Given the description of an element on the screen output the (x, y) to click on. 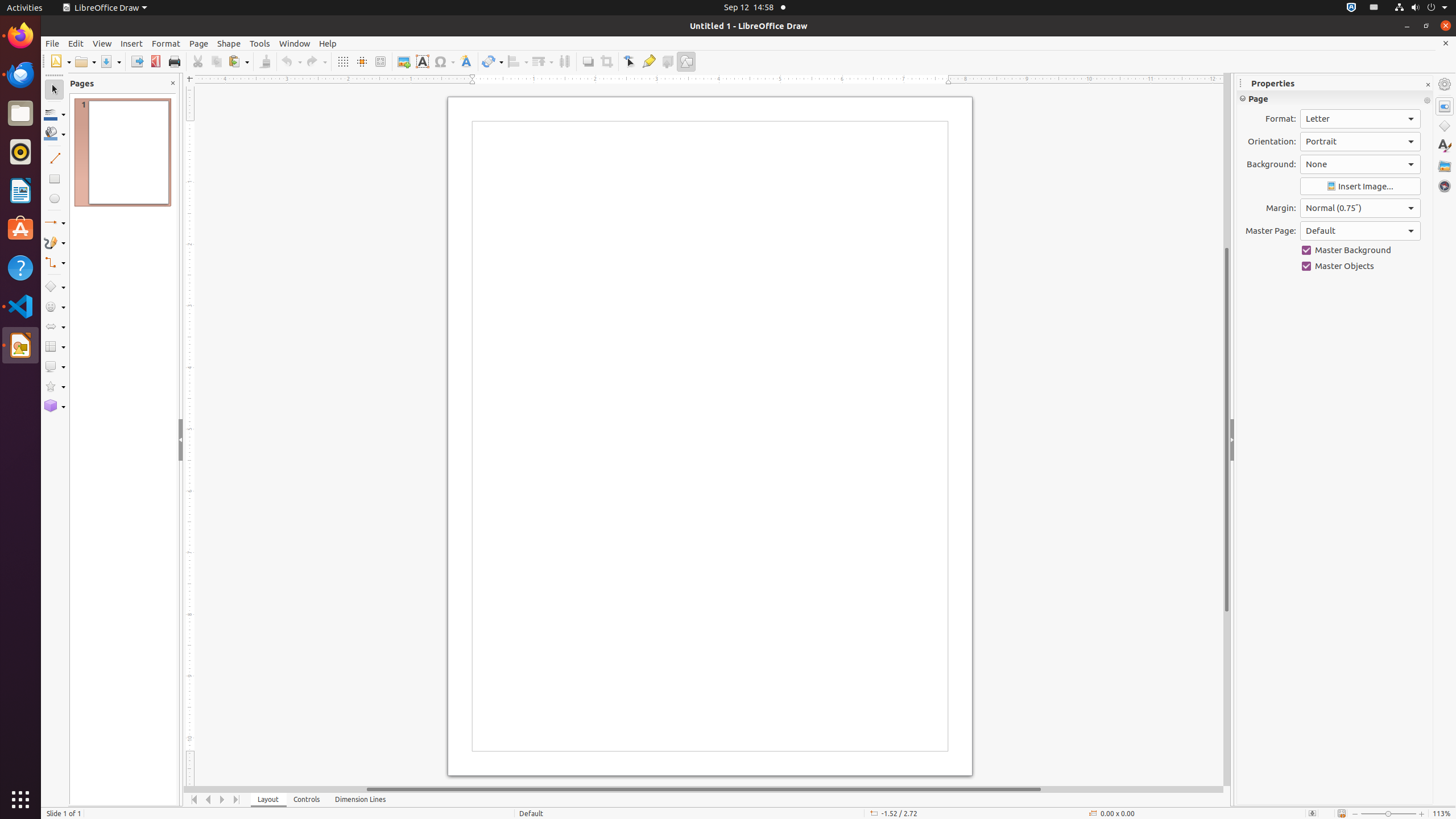
Symbol Element type: push-button (443, 61)
File Element type: menu (51, 43)
Cut Element type: push-button (197, 61)
LibreOffice Draw Element type: menu (103, 7)
More Options Element type: push-button (1426, 100)
